Given the description of an element on the screen output the (x, y) to click on. 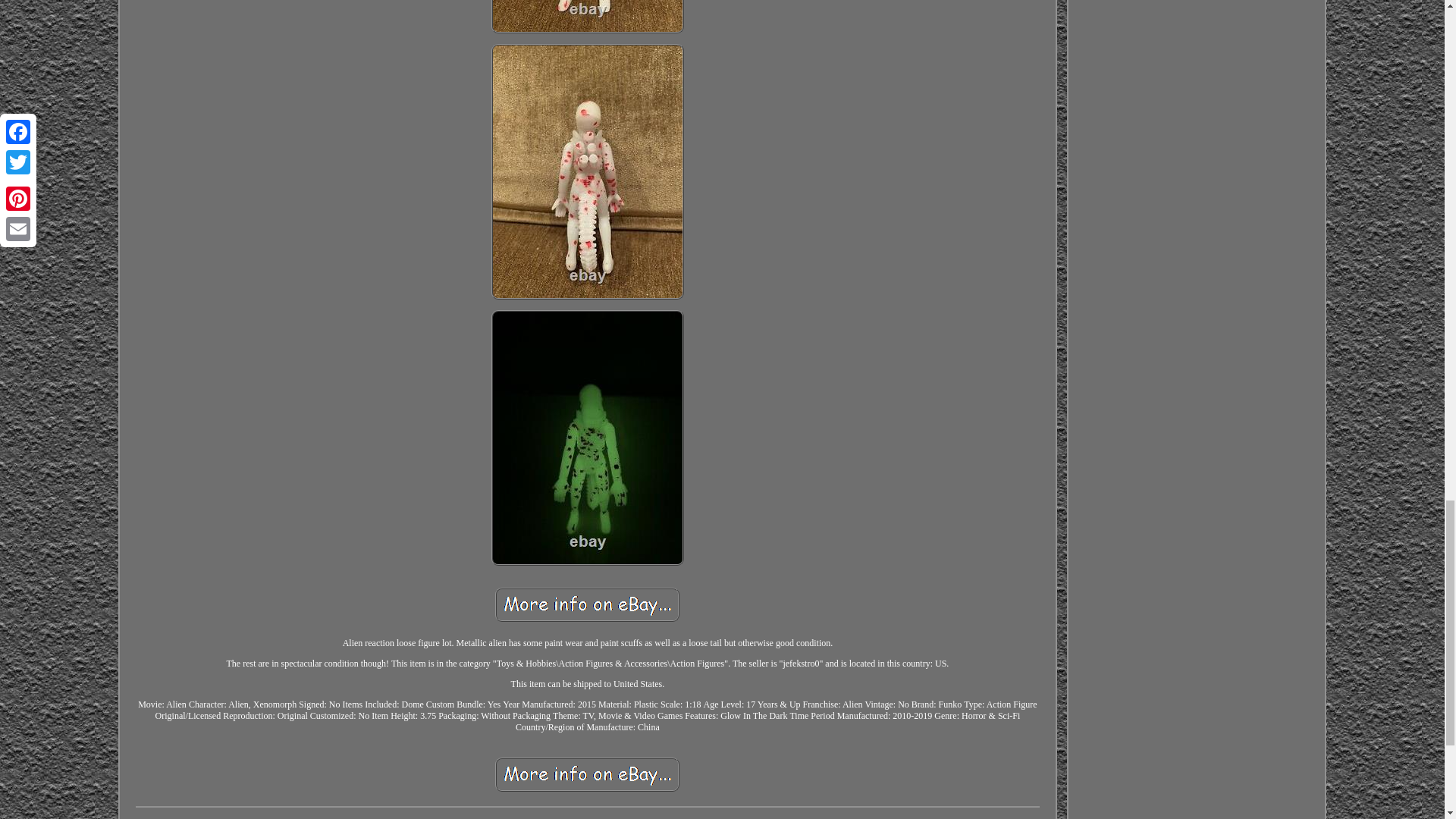
Alien reaction loose figure lot (587, 774)
Alien reaction loose figure lot (587, 604)
Alien reaction loose figure lot (588, 16)
